Given the description of an element on the screen output the (x, y) to click on. 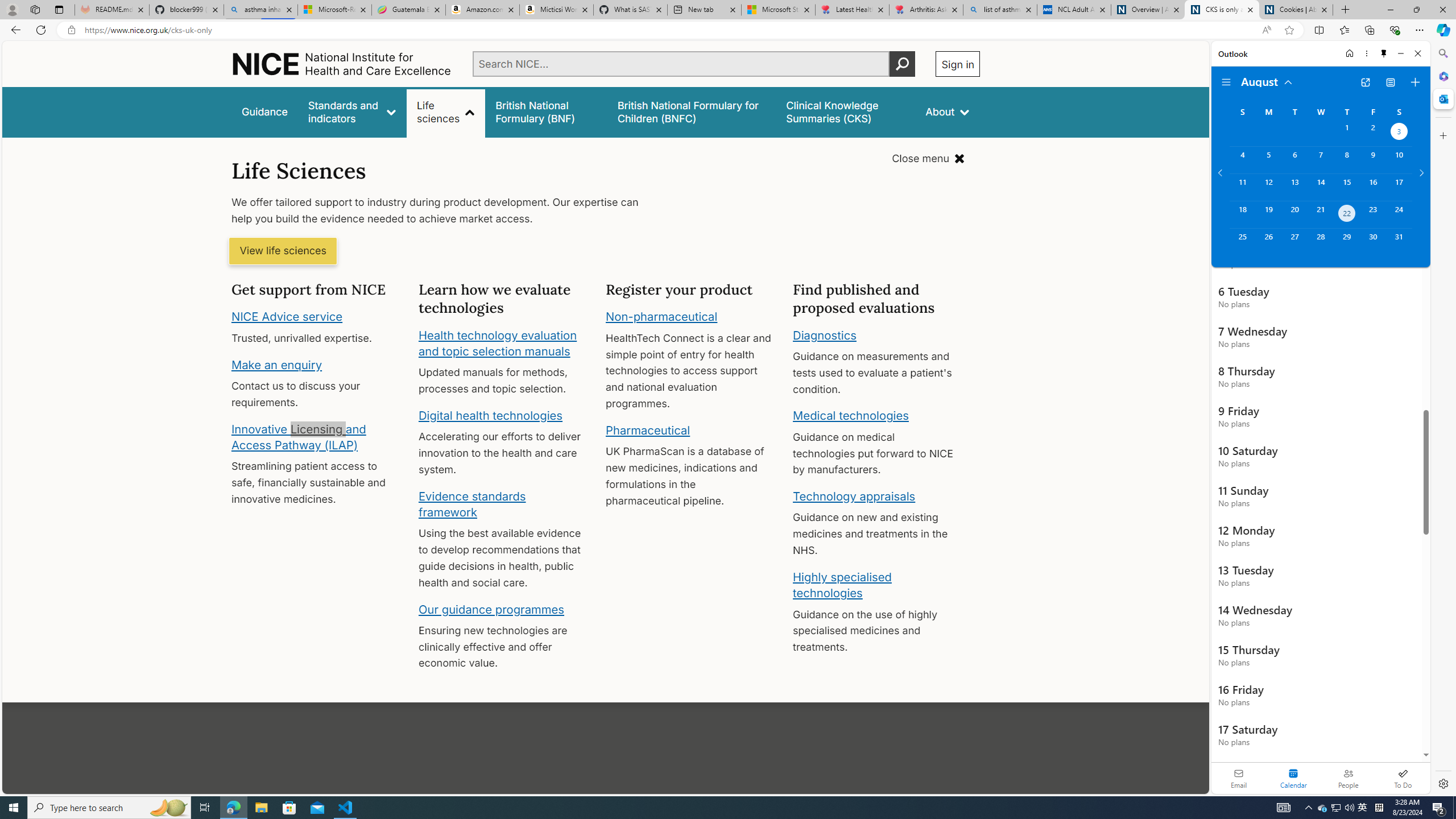
Technology appraisals (854, 495)
Cookies | About | NICE (1295, 9)
Close menu (927, 159)
Thursday, August 15, 2024.  (1346, 186)
British National Formulary for Children (BNFC) (691, 111)
Monday, August 19, 2024.  (1268, 214)
Wednesday, August 14, 2024.  (1320, 186)
Sunday, August 25, 2024.  (1242, 241)
Close Outlook pane (1442, 98)
Home (341, 63)
